Given the description of an element on the screen output the (x, y) to click on. 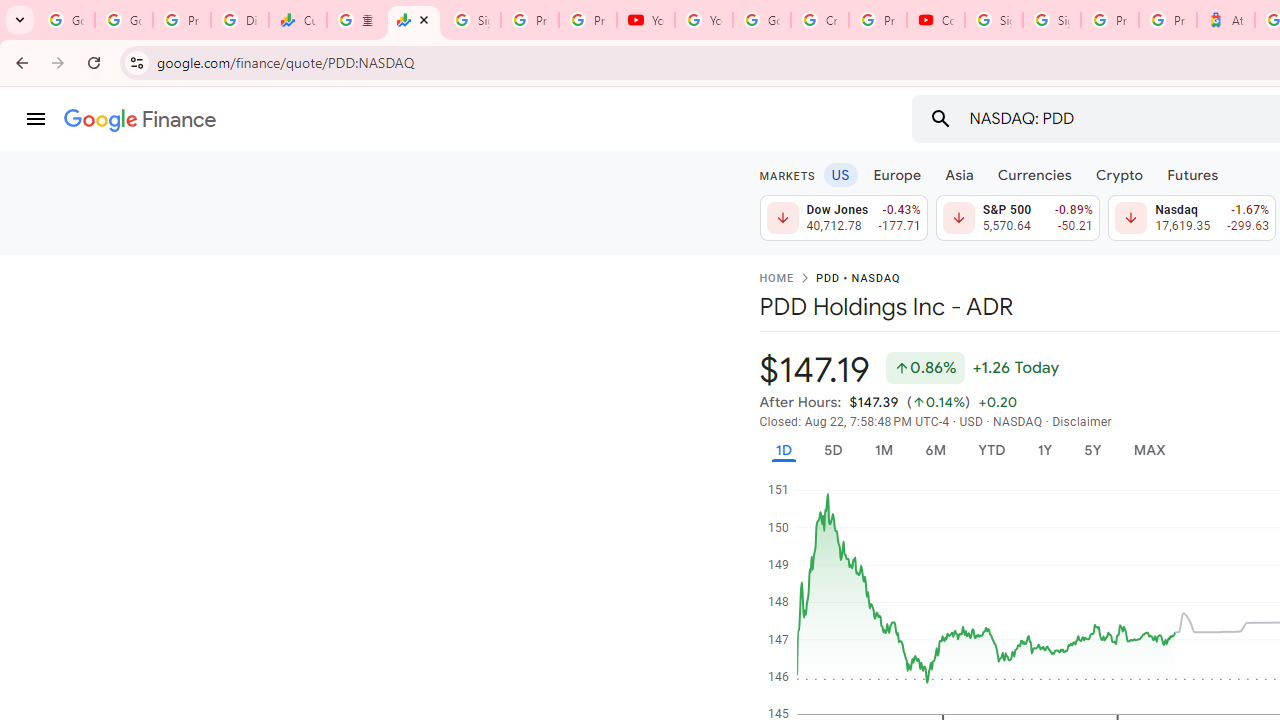
MAX (1149, 449)
Google Workspace Admin Community (65, 20)
Asia (958, 174)
PDD Holdings Inc - ADR (PDD) Price & News - Google Finance (413, 20)
Currencies - Google Finance (297, 20)
Dow Jones 40,712.78 Down by 0.43% -177.71 (843, 218)
HOME (776, 279)
